Given the description of an element on the screen output the (x, y) to click on. 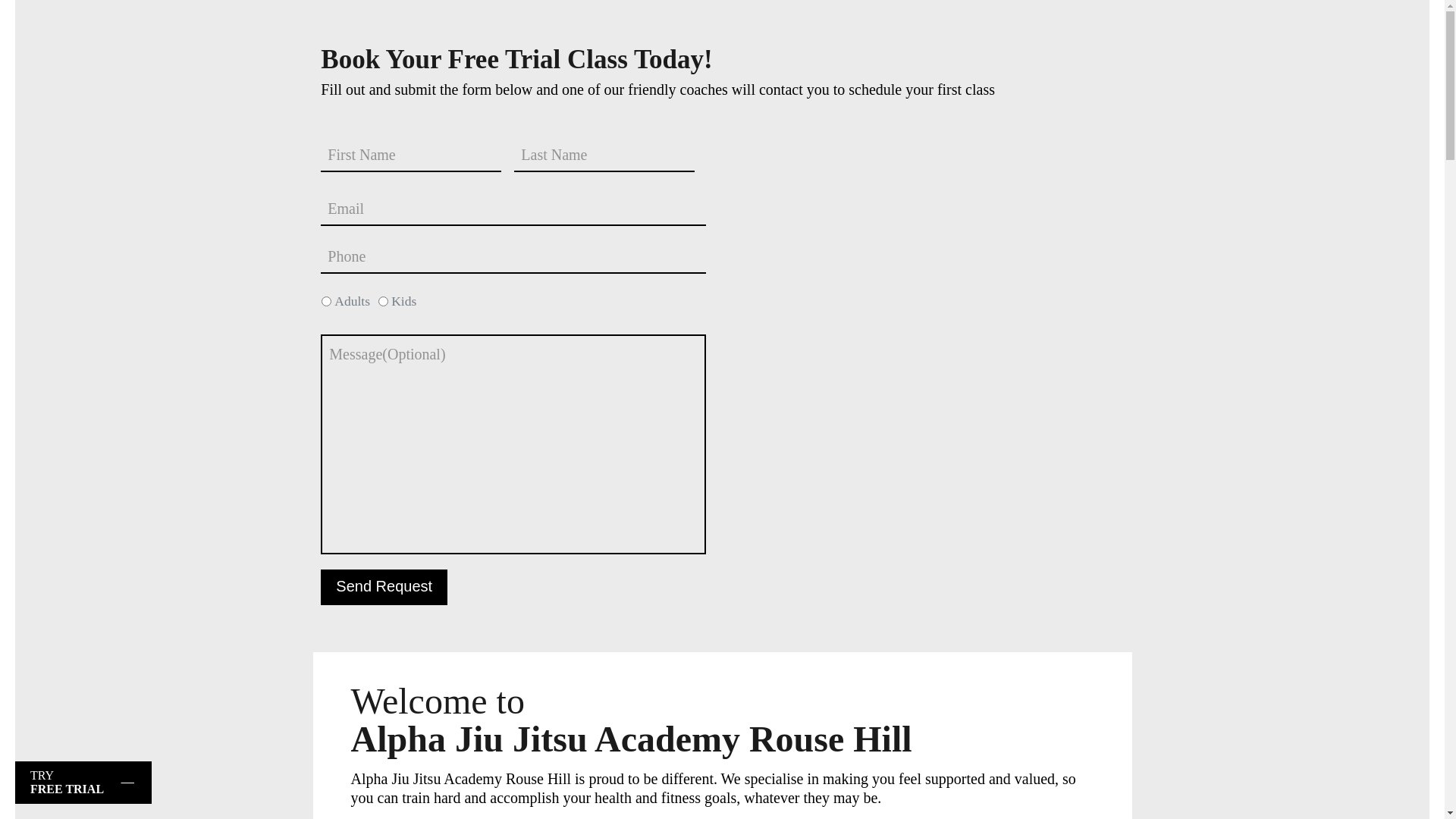
TRY
FREE TRIAL Element type: text (83, 782)
Send Request Element type: text (383, 587)
